Given the description of an element on the screen output the (x, y) to click on. 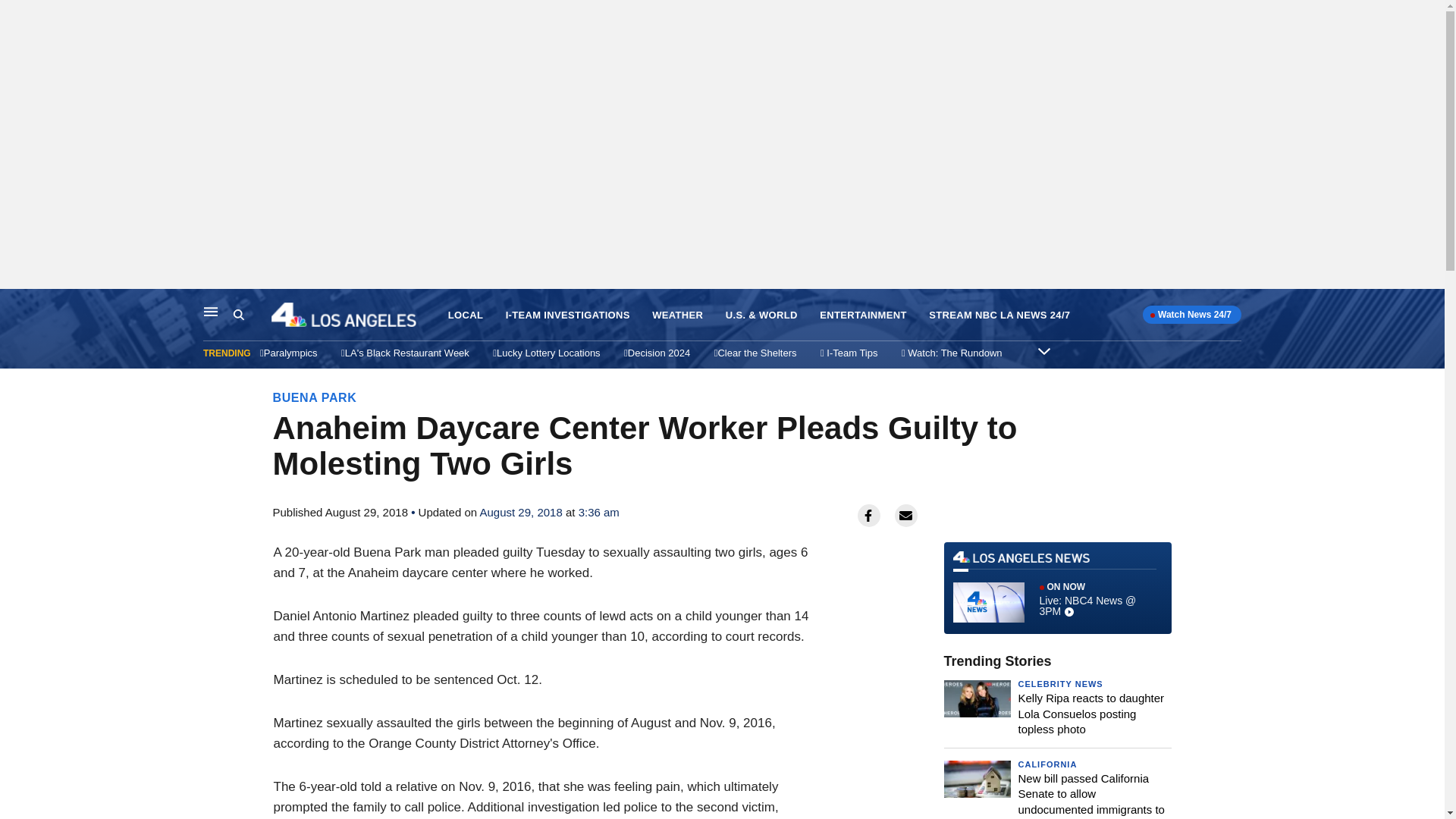
Search (252, 314)
Skip to content (16, 304)
Expand (1043, 350)
CELEBRITY NEWS (1059, 683)
CALIFORNIA (1047, 764)
WEATHER (677, 315)
ENTERTAINMENT (863, 315)
LOCAL (465, 315)
